Given the description of an element on the screen output the (x, y) to click on. 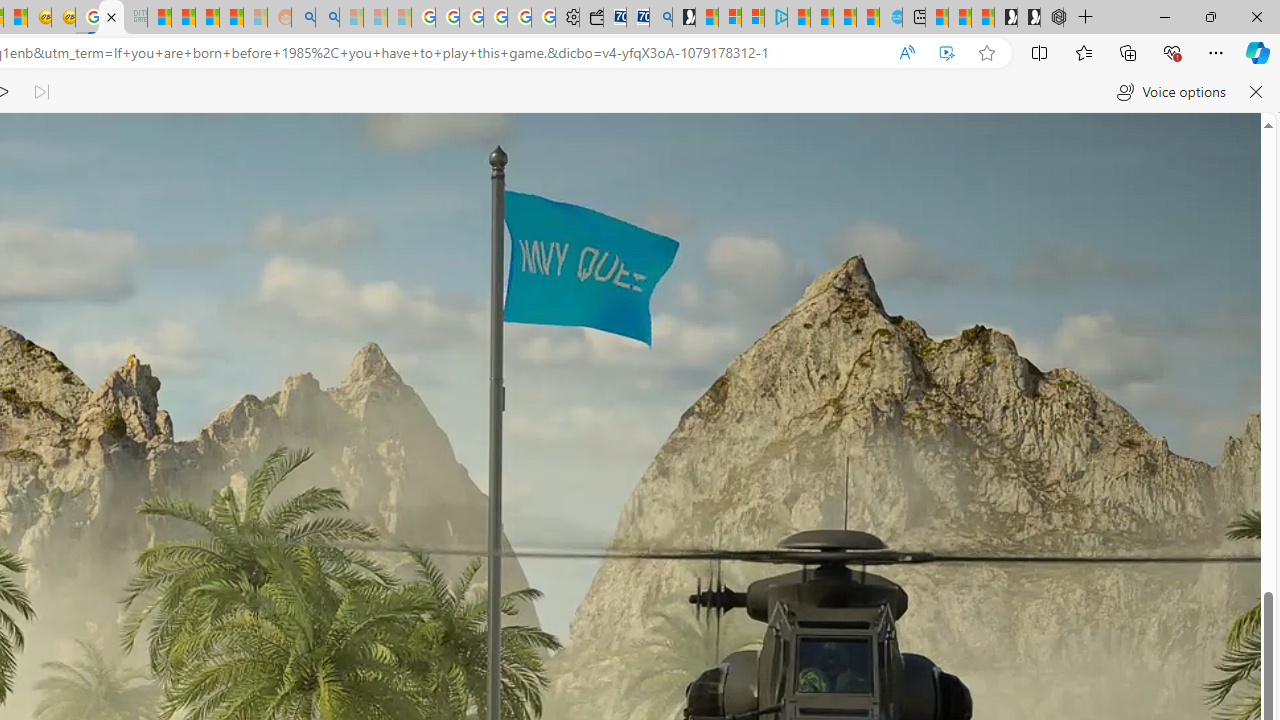
Bing Real Estate - Home sales and rental listings (660, 17)
DITOGAMES AG Imprint - Sleeping (135, 17)
Student Loan Update: Forgiveness Program Ends This Month (231, 17)
Wallet (590, 17)
Enhance video (946, 53)
